Given the description of an element on the screen output the (x, y) to click on. 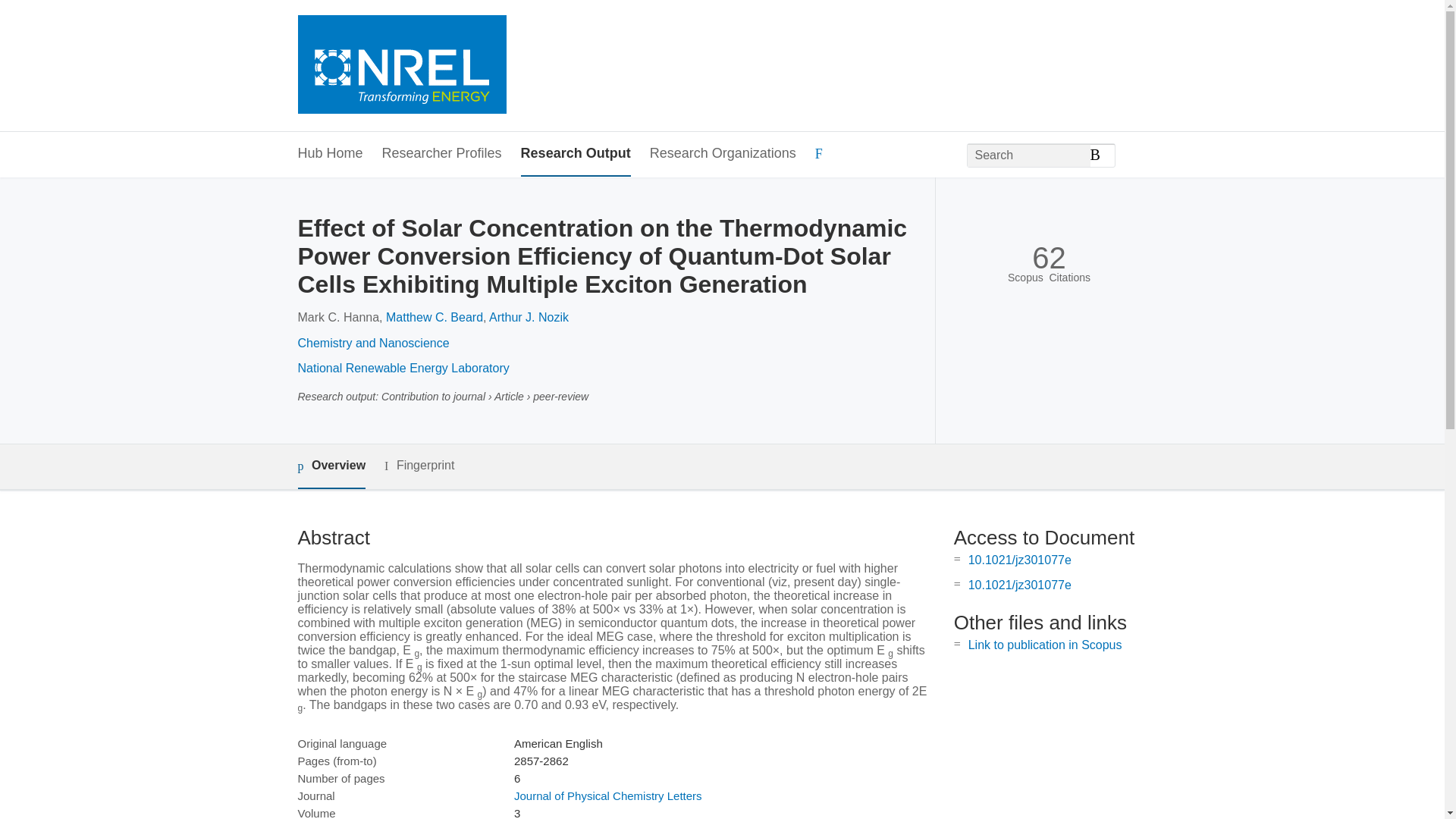
Link to publication in Scopus (1045, 644)
Hub Home (329, 153)
Arthur J. Nozik (529, 317)
Researcher Profiles (441, 153)
Overview (331, 466)
Fingerprint (419, 465)
Matthew C. Beard (434, 317)
Research Output (575, 153)
National Renewable Energy Laboratory (402, 367)
Research Organizations (722, 153)
National Renewable Energy Laboratory Hub Home (401, 66)
Journal of Physical Chemistry Letters (607, 795)
Chemistry and Nanoscience (372, 342)
